Given the description of an element on the screen output the (x, y) to click on. 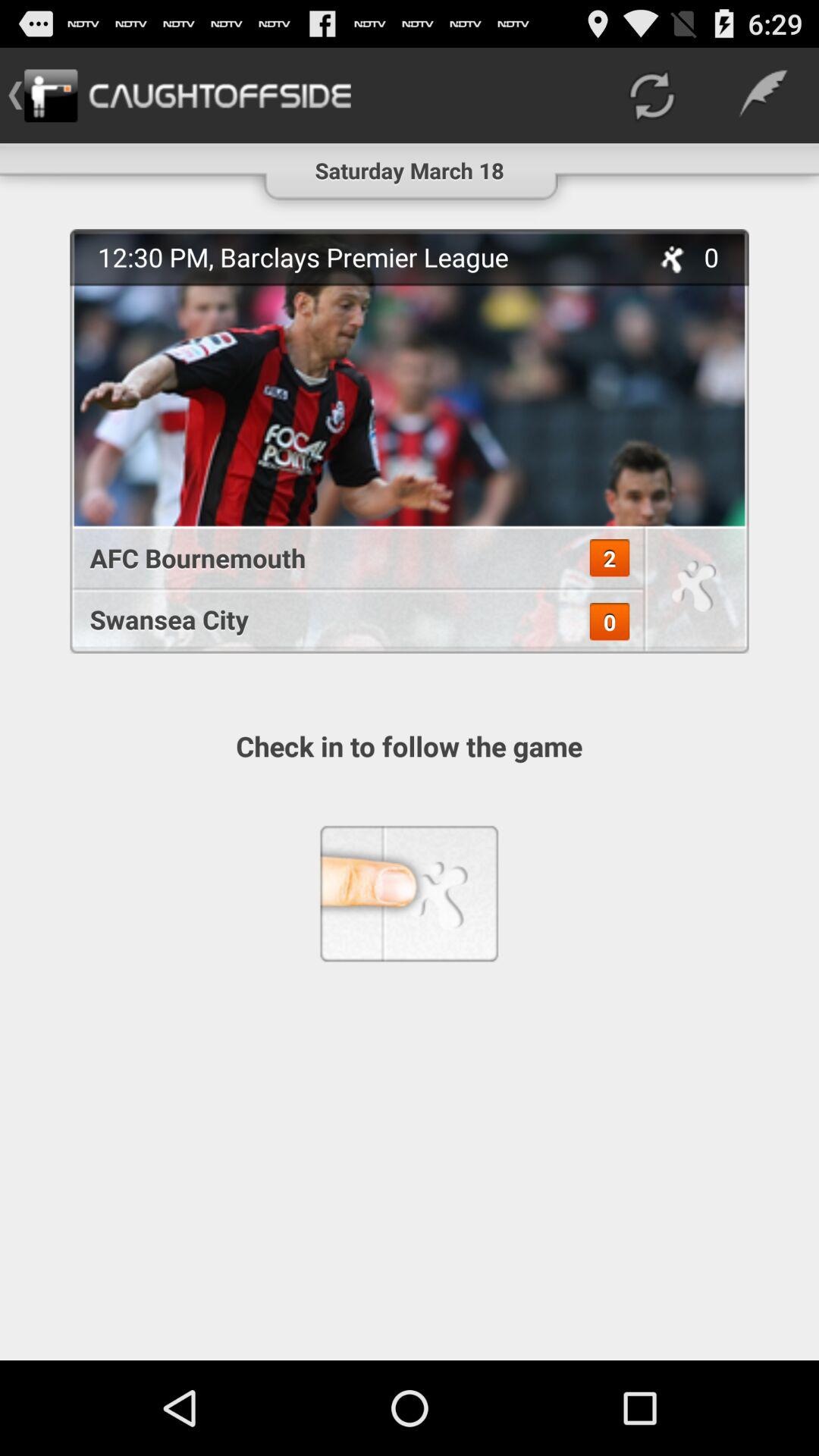
open the icon above the swansea city app (609, 558)
